Given the description of an element on the screen output the (x, y) to click on. 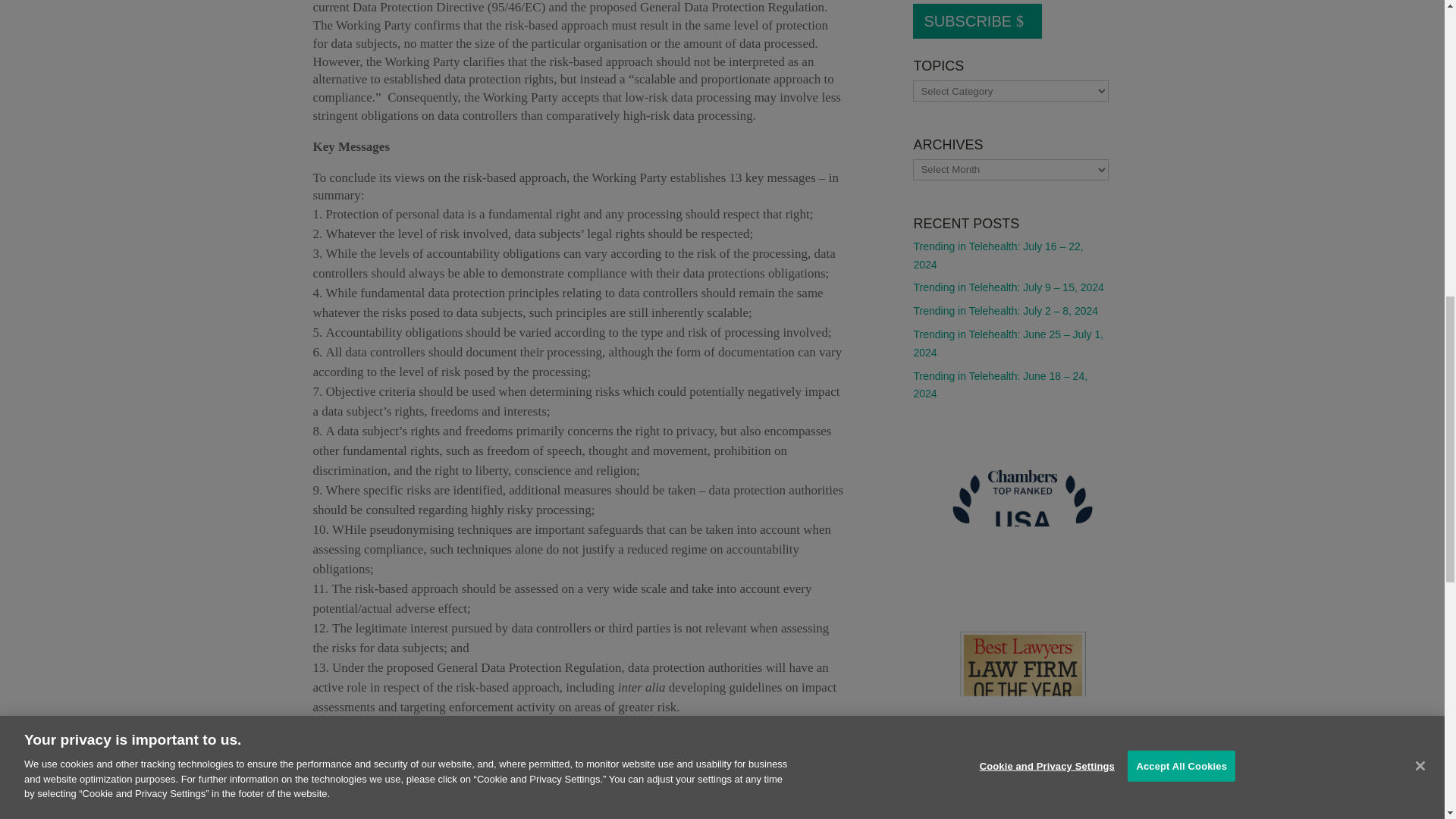
Data Protection Directive (721, 766)
Article 29 Data Protection Working Party (451, 766)
General Data Protection Regulation (575, 775)
data protection (607, 766)
